Given the description of an element on the screen output the (x, y) to click on. 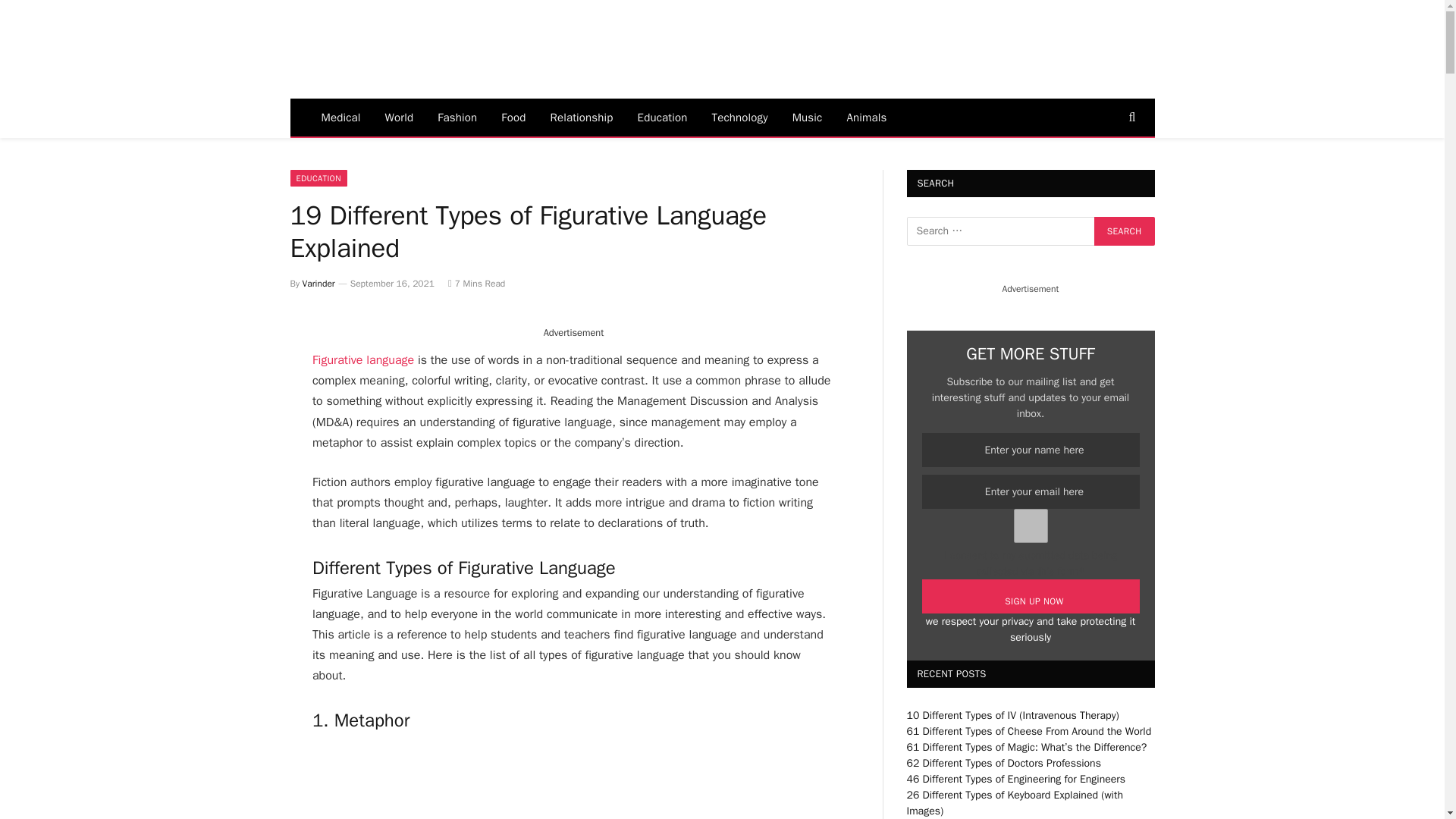
Search (1124, 231)
Sign Up Now (1030, 596)
World (399, 117)
Search (1124, 231)
Fashion (457, 117)
Figurative language (363, 359)
EDUCATION (317, 177)
Food (513, 117)
on (1030, 525)
Metaphor Figurative Language (426, 777)
Posts by Varinder (318, 283)
Types of All (429, 49)
Animals (866, 117)
Search (1124, 231)
Medical (340, 117)
